Given the description of an element on the screen output the (x, y) to click on. 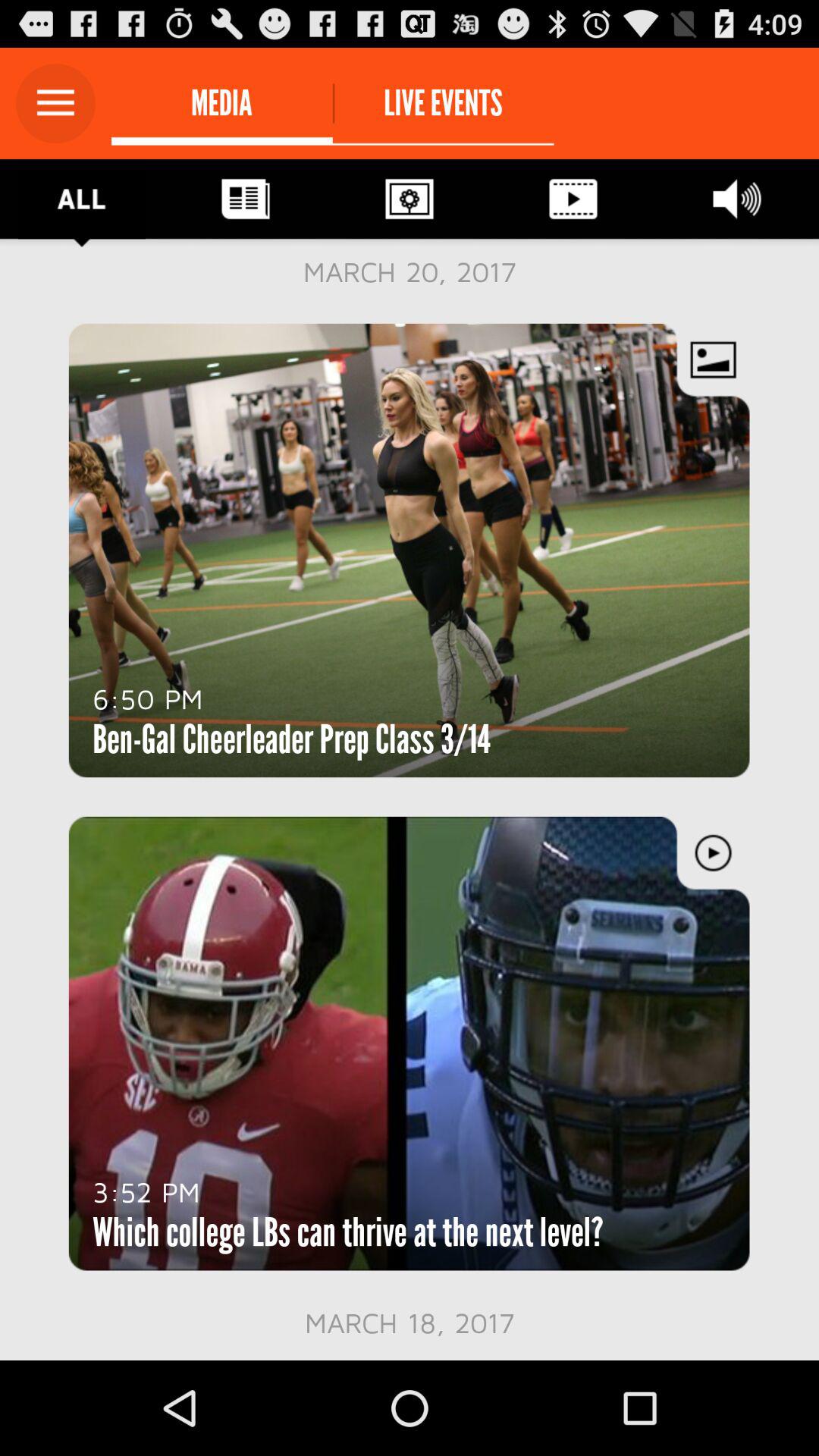
select the icon to the right of media icon (442, 103)
